Given the description of an element on the screen output the (x, y) to click on. 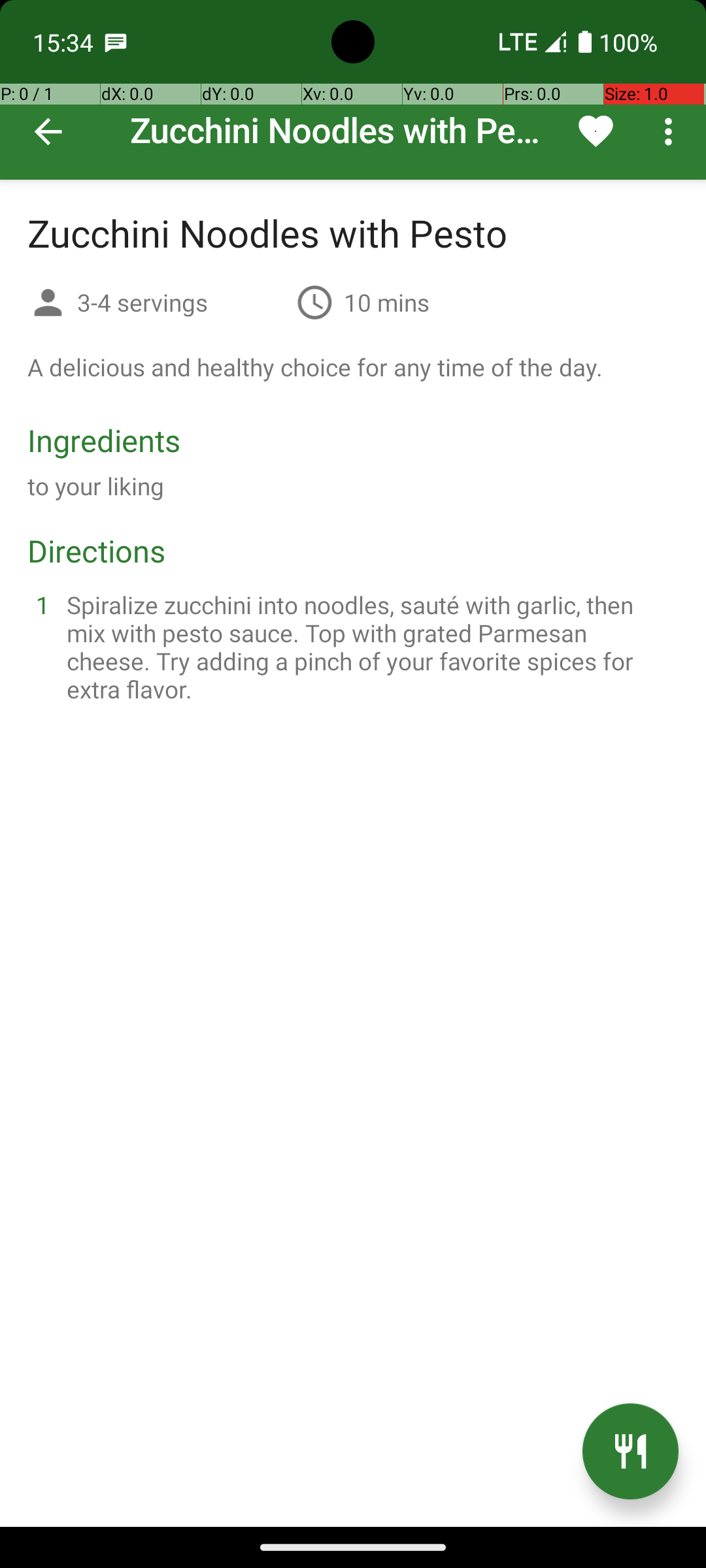
Zucchini Noodles with Pesto Element type: android.widget.FrameLayout (353, 89)
Spiralize zucchini into noodles, sauté with garlic, then mix with pesto sauce. Top with grated Parmesan cheese. Try adding a pinch of your favorite spices for extra flavor. Element type: android.widget.TextView (368, 646)
